Given the description of an element on the screen output the (x, y) to click on. 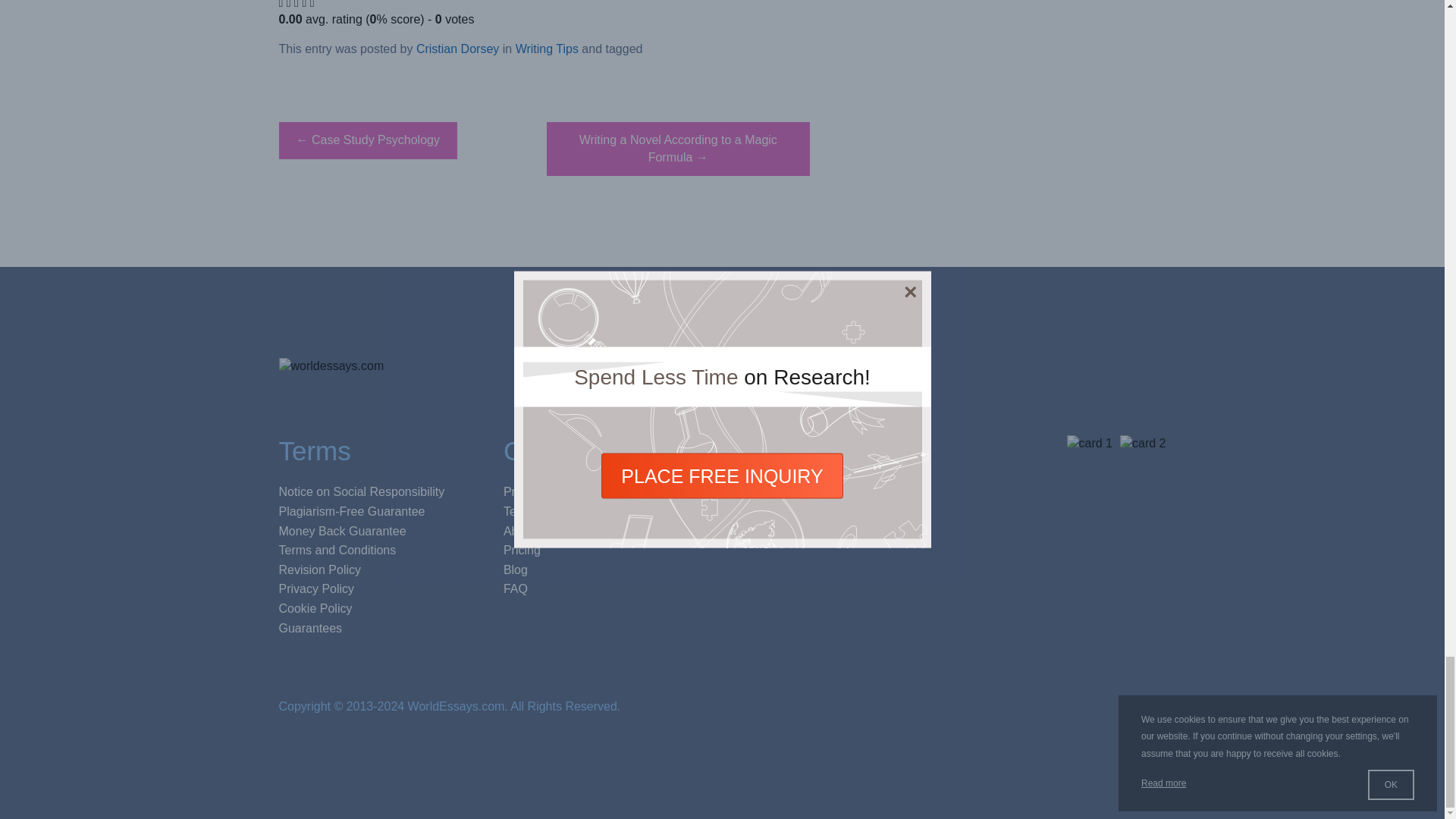
Writing Tips (546, 48)
Cristian Dorsey (457, 48)
Progressive Delivery (557, 491)
